Given the description of an element on the screen output the (x, y) to click on. 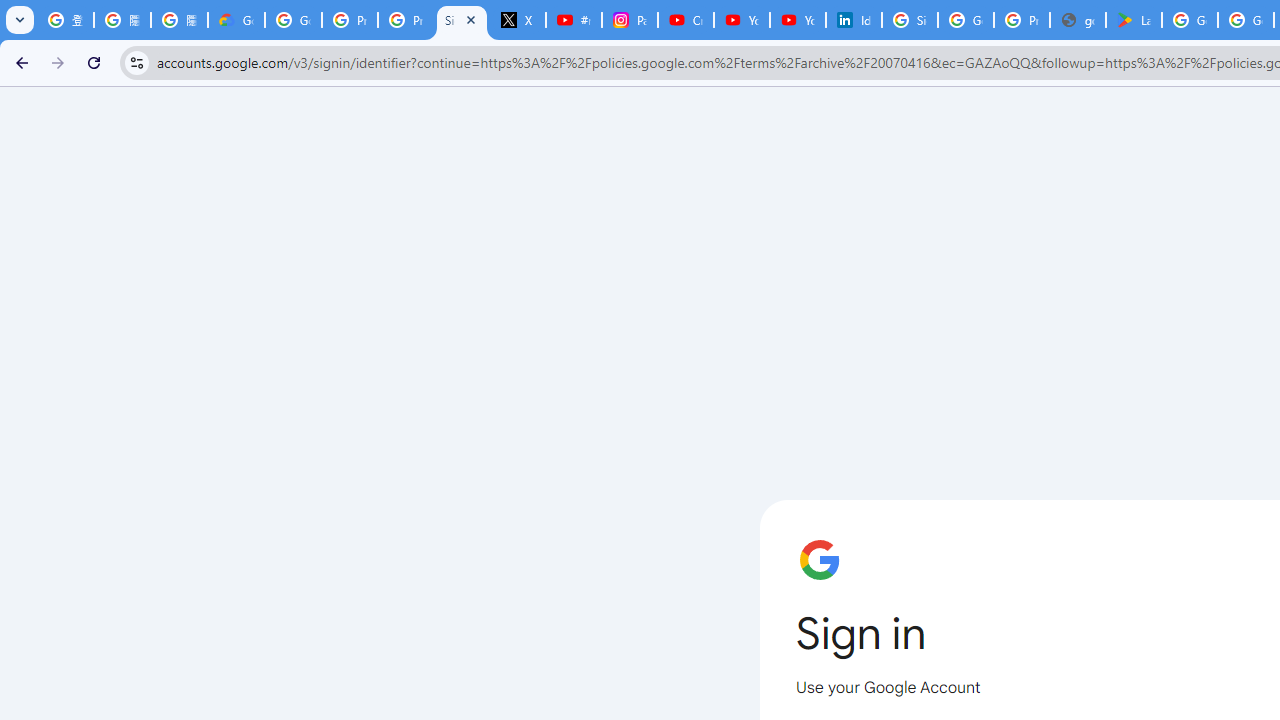
X (518, 20)
Sign in - Google Accounts (909, 20)
Privacy Help Center - Policies Help (405, 20)
